Given the description of an element on the screen output the (x, y) to click on. 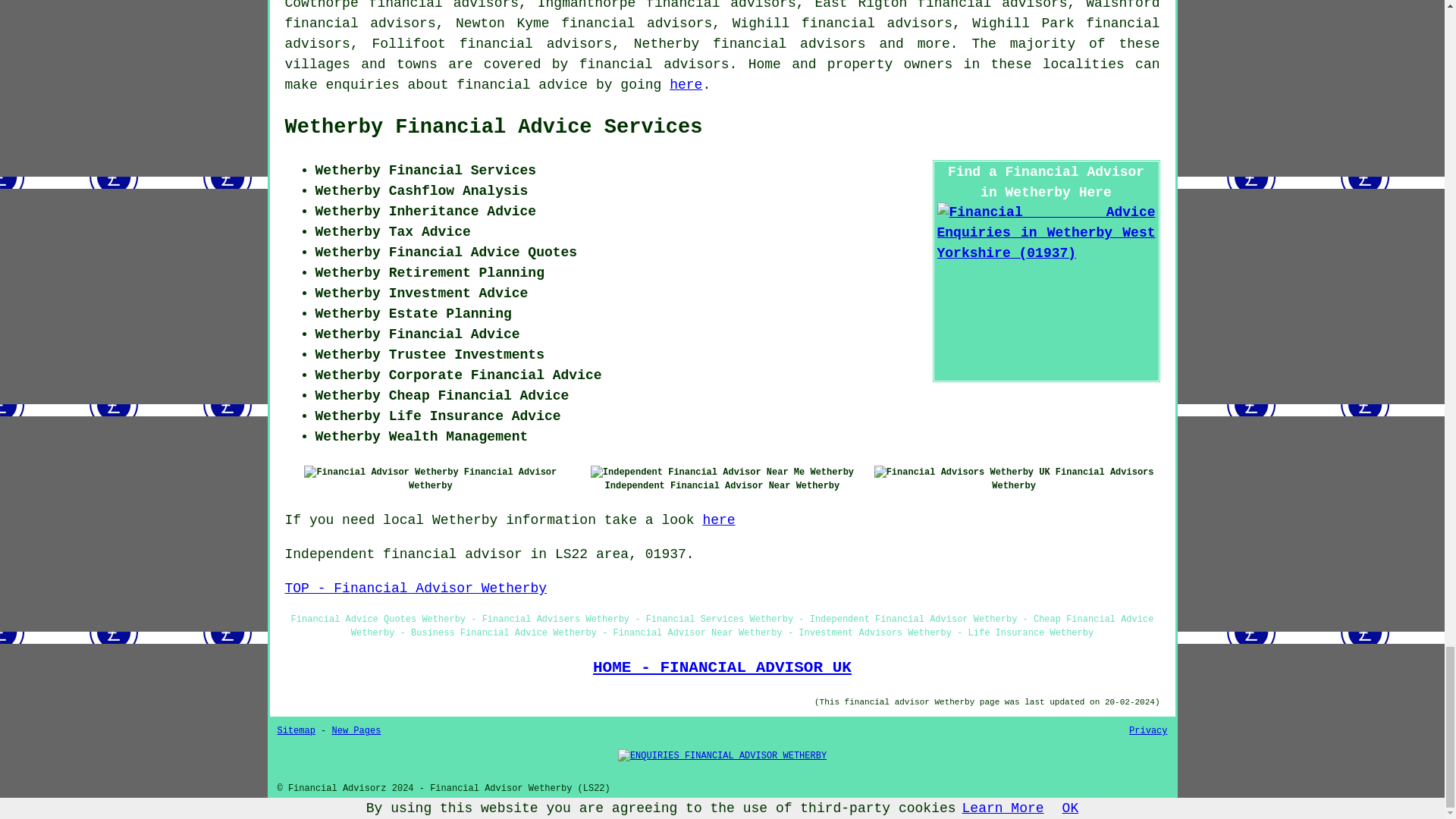
Independent Financial Advisor Near Me Wetherby (722, 472)
Financial Advisors Wetherby UK (962, 472)
Financial Advisor Wetherby (381, 472)
ENQUIRIES FINANCIAL ADVISOR WETHERBY (722, 755)
